Given the description of an element on the screen output the (x, y) to click on. 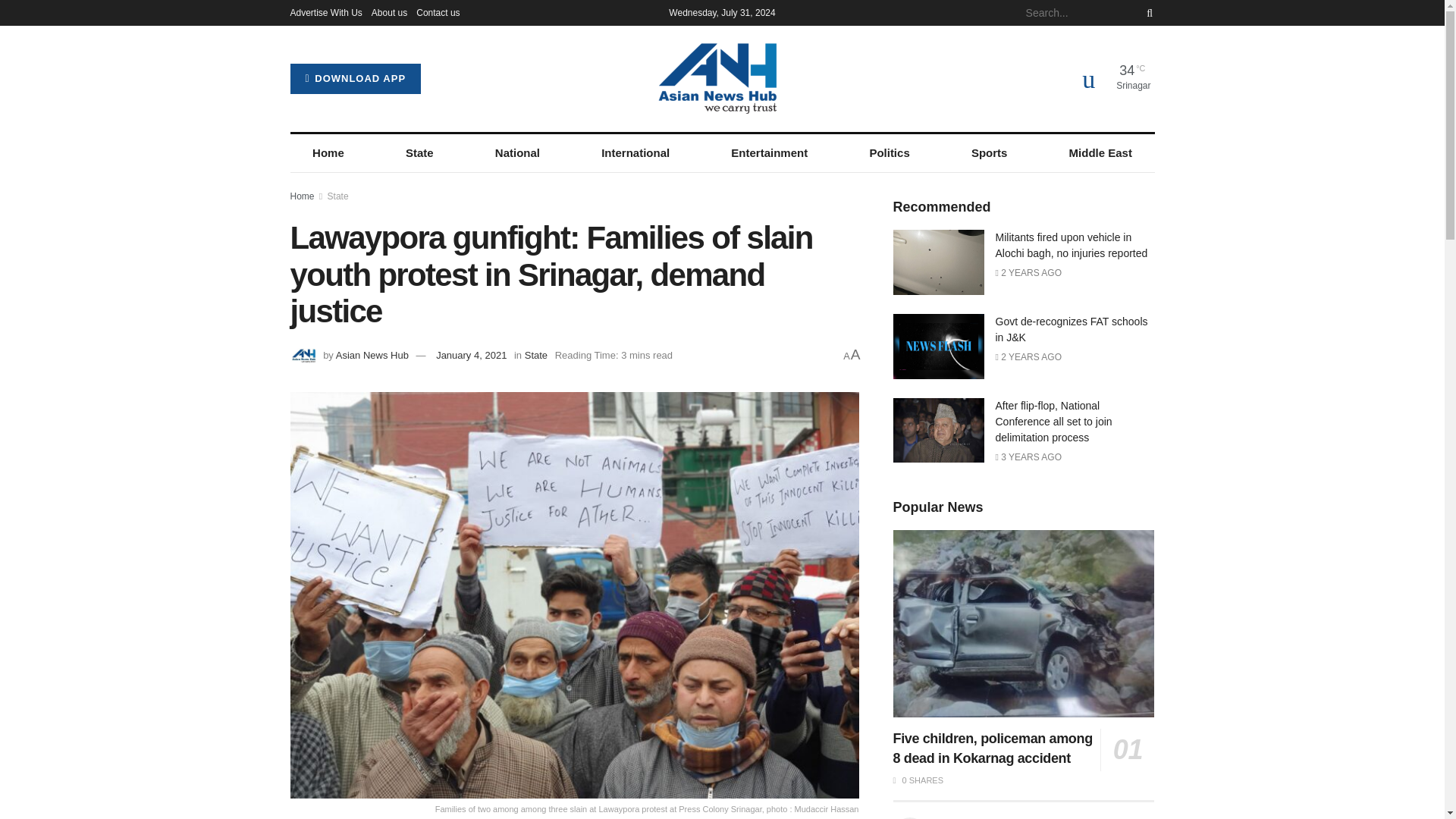
Sports (989, 152)
Advertise With Us (325, 12)
International (636, 152)
State (338, 195)
Middle East (1100, 152)
About us (389, 12)
Home (327, 152)
DOWNLOAD APP (354, 78)
Contact us (438, 12)
Home (301, 195)
Politics (890, 152)
Entertainment (769, 152)
State (418, 152)
National (516, 152)
